Given the description of an element on the screen output the (x, y) to click on. 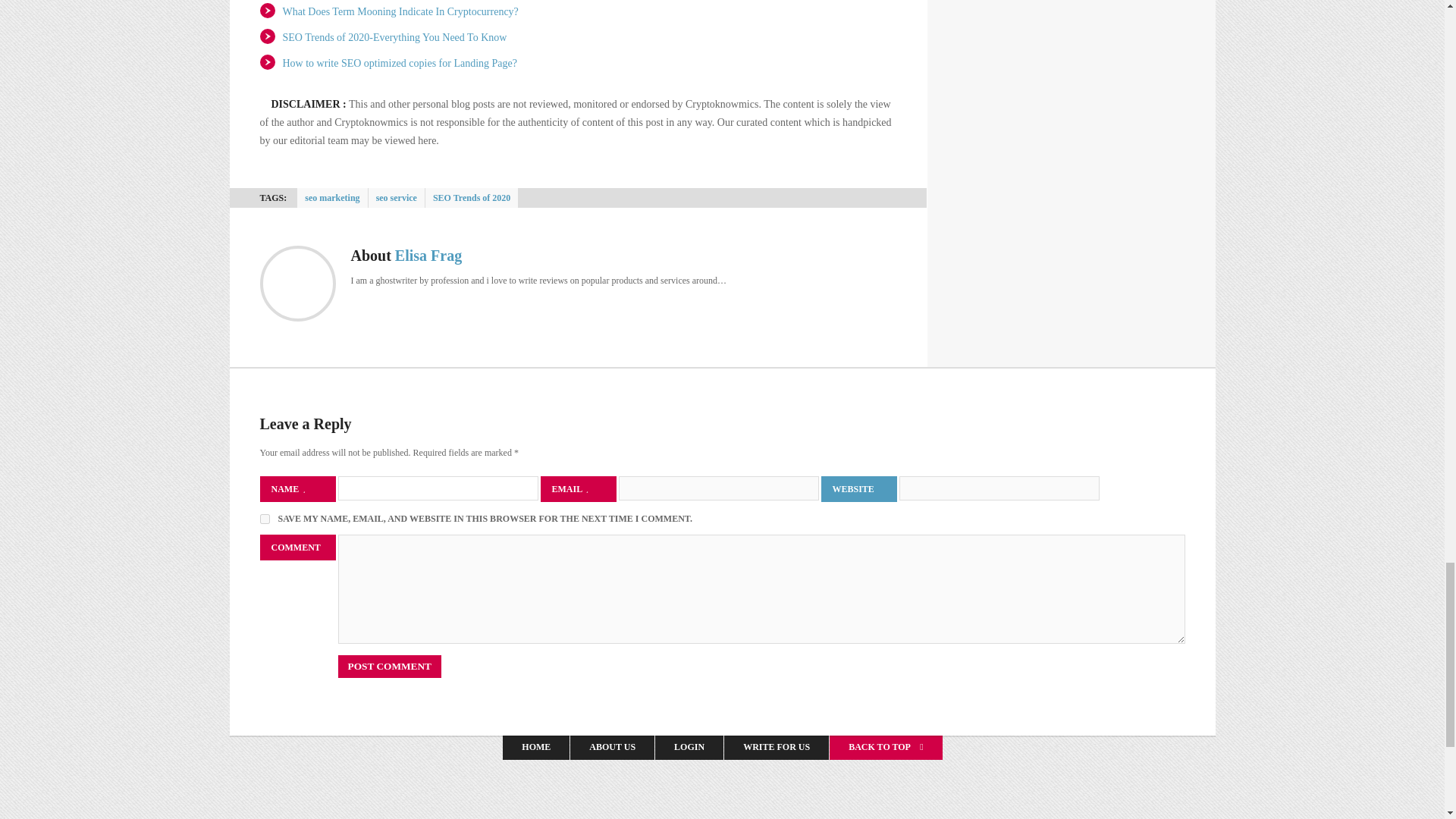
Post Comment (389, 666)
yes (264, 519)
